Given the description of an element on the screen output the (x, y) to click on. 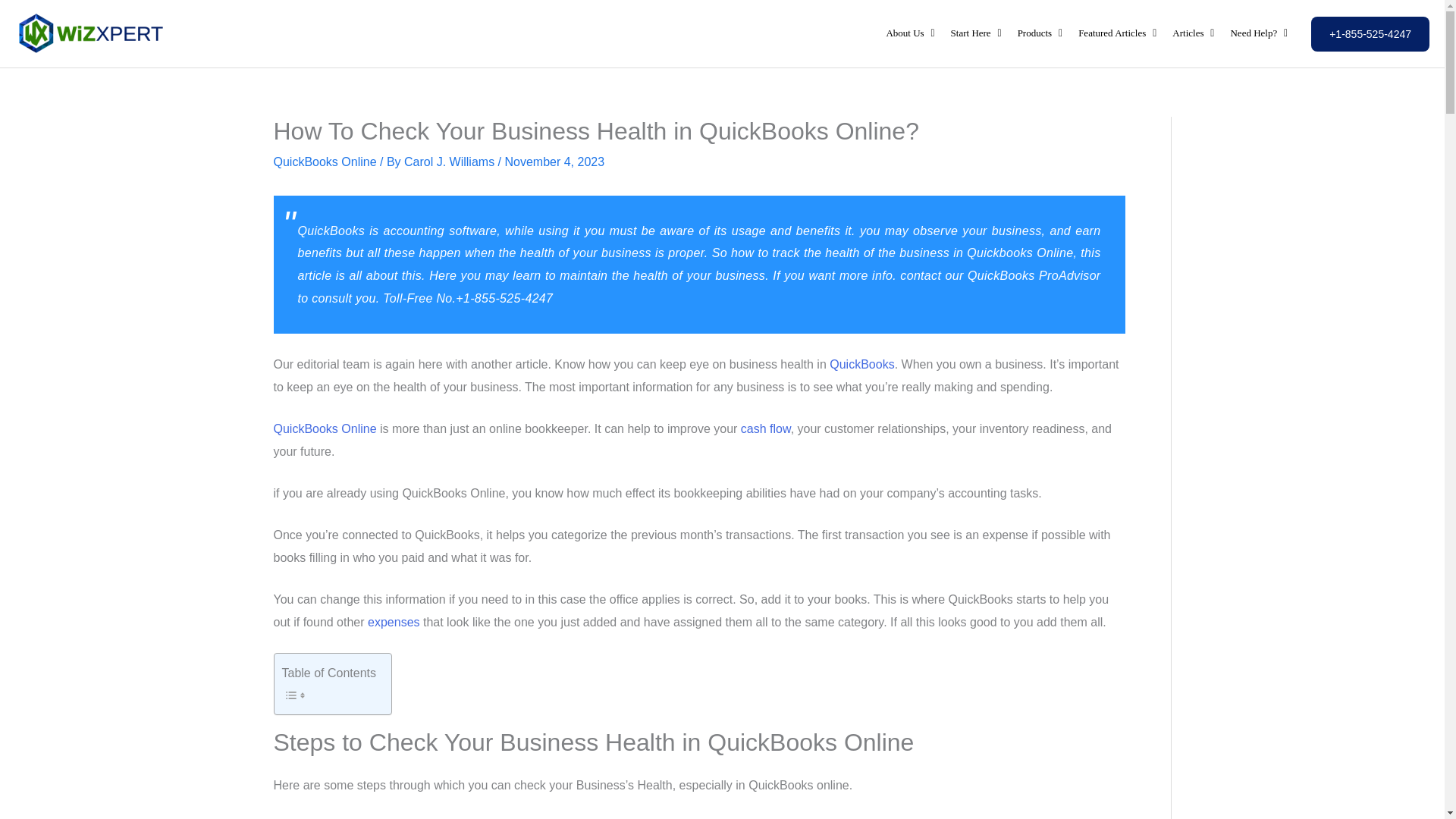
About Us (909, 33)
View all posts by Carol J. Williams (450, 161)
Start Here (976, 33)
Products (1040, 33)
